Given the description of an element on the screen output the (x, y) to click on. 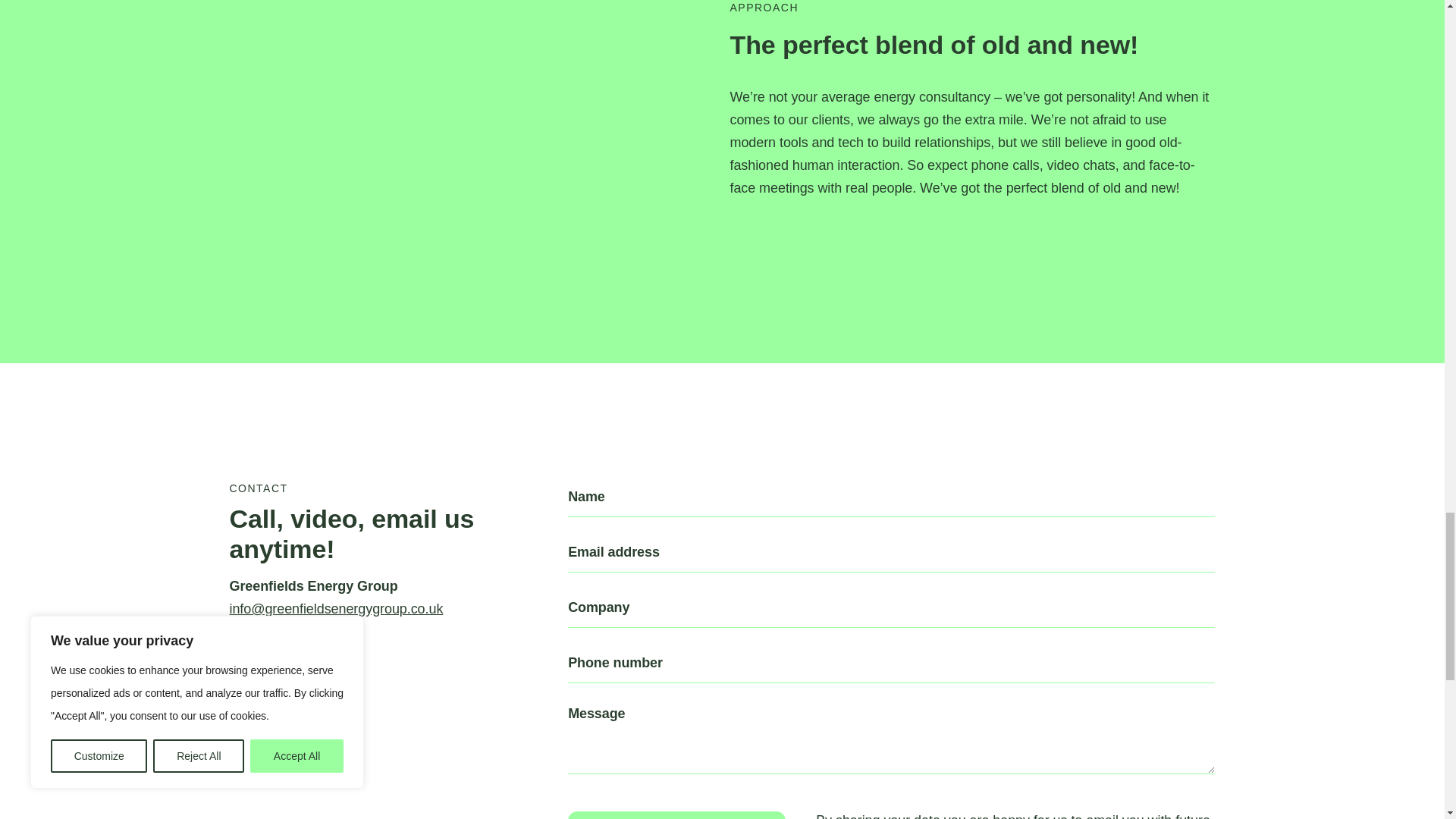
Say hello! (676, 815)
